Given the description of an element on the screen output the (x, y) to click on. 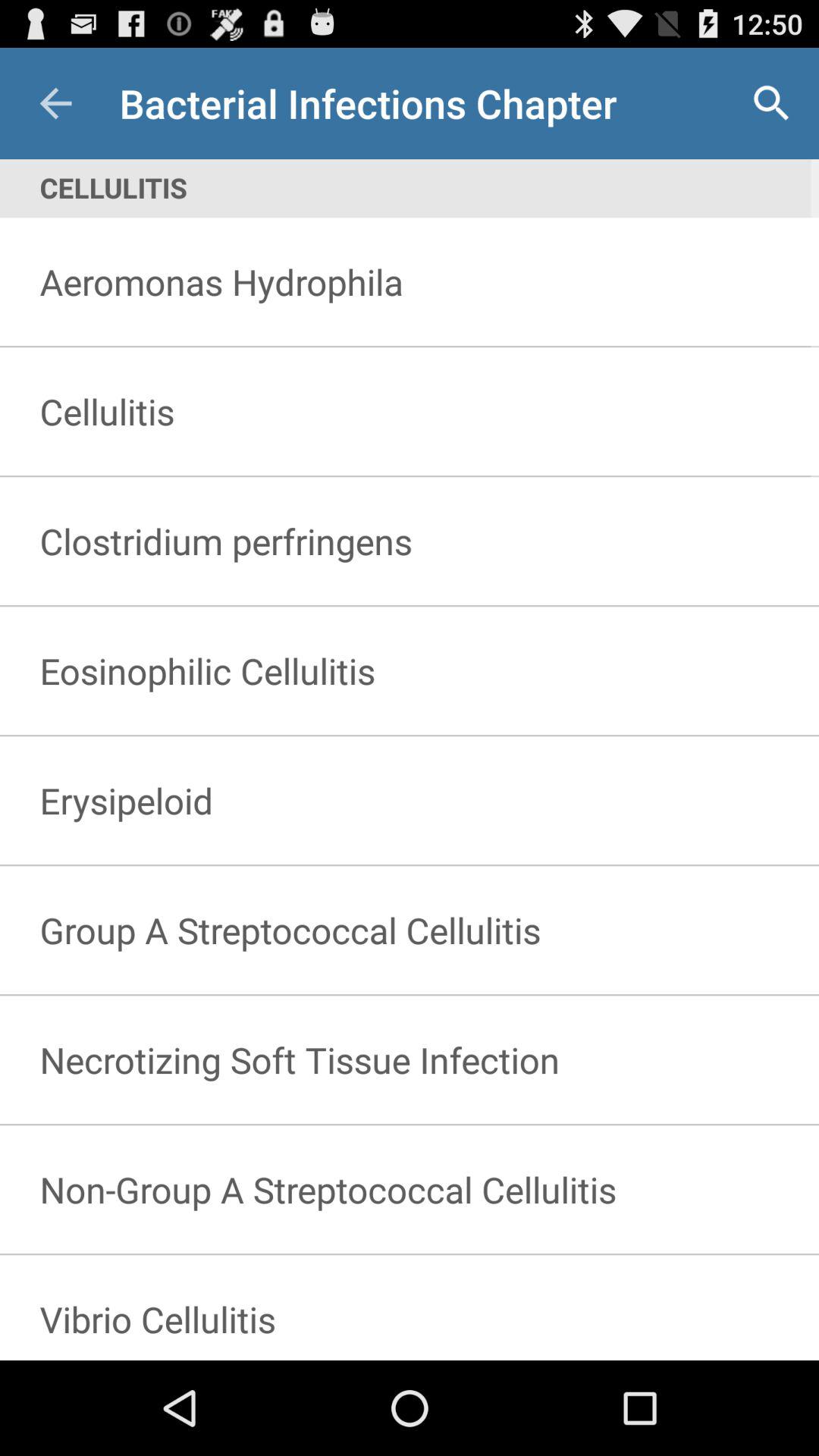
select the icon to the right of the bacterial infections chapter item (771, 103)
